Given the description of an element on the screen output the (x, y) to click on. 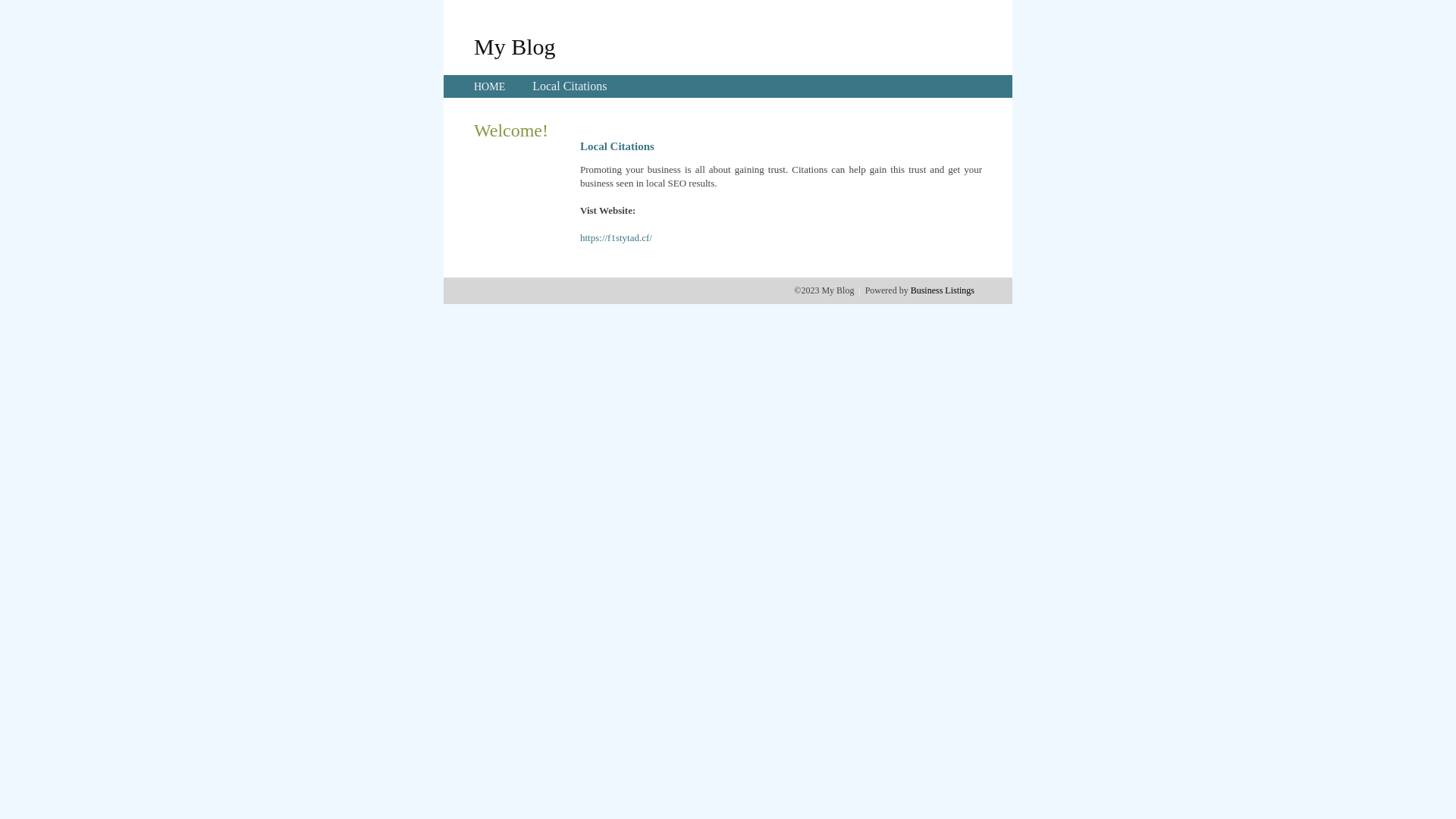
My Blog Element type: text (514, 46)
https://f1stytad.cf/ Element type: text (616, 237)
HOME Element type: text (489, 86)
Business Listings Element type: text (942, 290)
Local Citations Element type: text (569, 85)
